Given the description of an element on the screen output the (x, y) to click on. 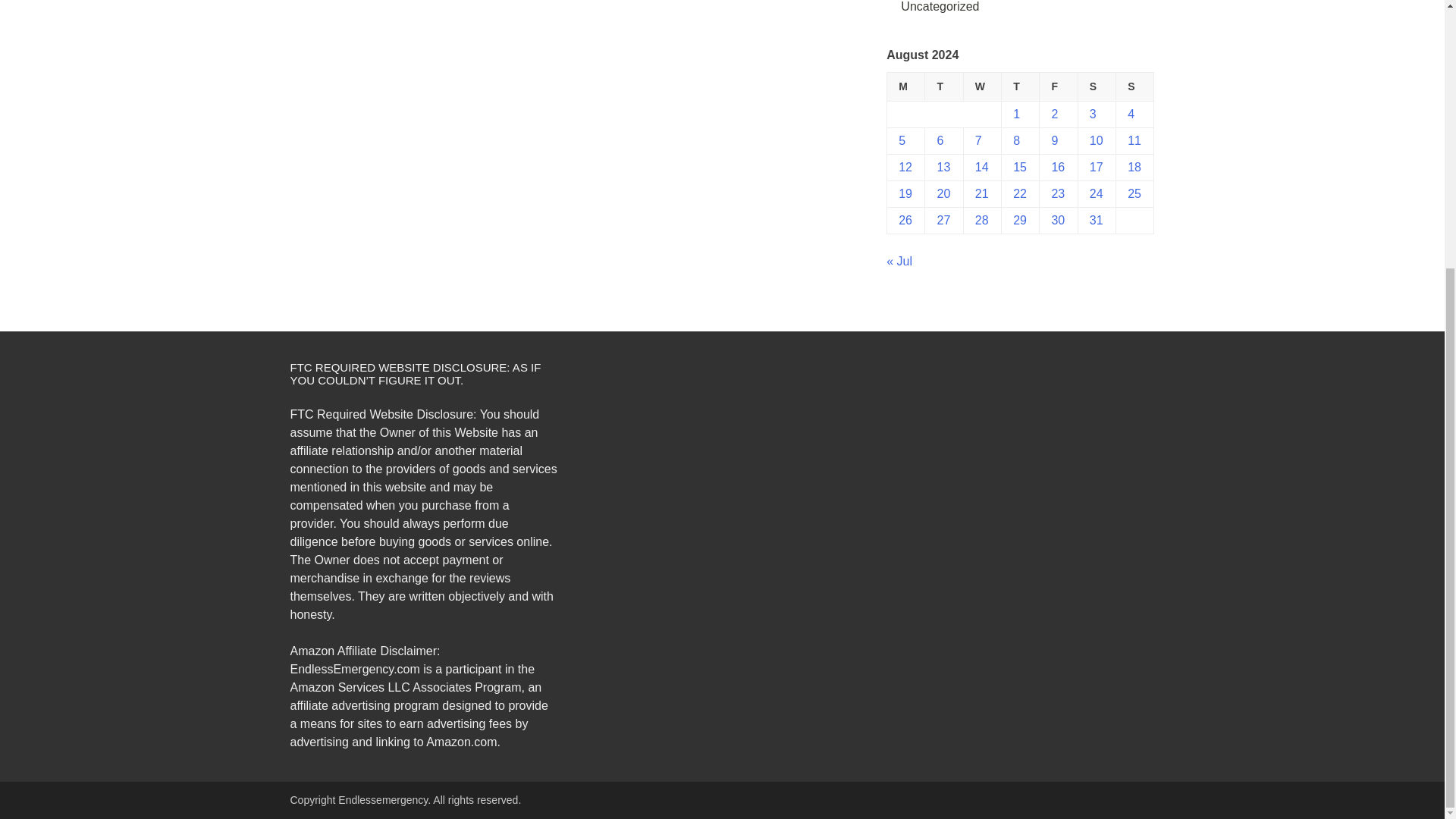
14 (981, 166)
Thursday (1020, 86)
15 (1019, 166)
Friday (1058, 86)
Wednesday (981, 86)
Tuesday (943, 86)
10 (1096, 140)
Sunday (1135, 86)
Saturday (1096, 86)
12 (905, 166)
